Given the description of an element on the screen output the (x, y) to click on. 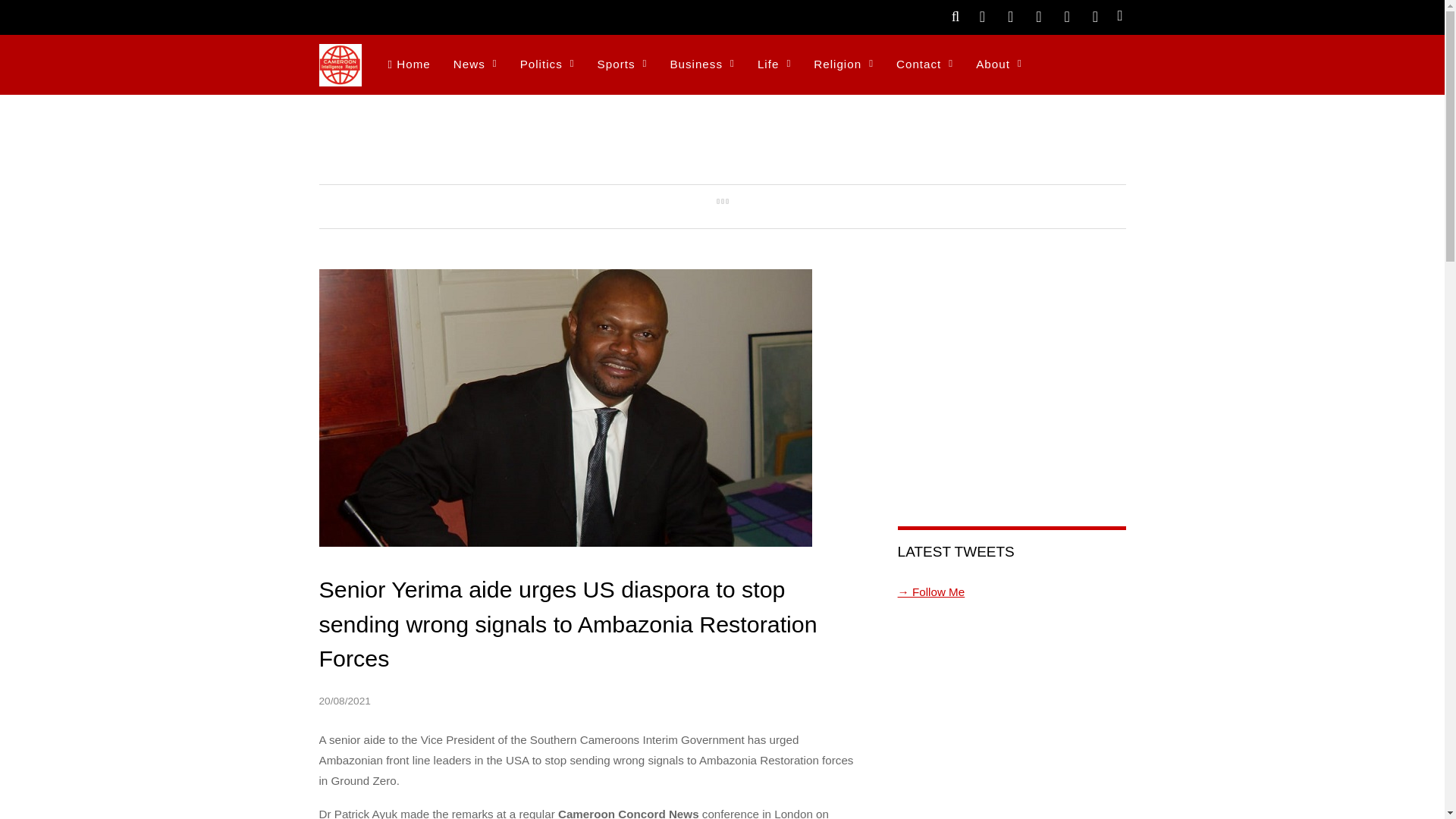
Linkedin (1094, 15)
Cameroon Intelligence Report (339, 65)
Contact (924, 65)
Business (701, 65)
Home (408, 65)
Religion (843, 65)
Life (773, 65)
Sports (622, 65)
Twitter (981, 15)
Facebook (1011, 15)
Cameroon Intelligence Report (339, 77)
Politics (547, 65)
News (475, 65)
YouTube (1067, 15)
